Given the description of an element on the screen output the (x, y) to click on. 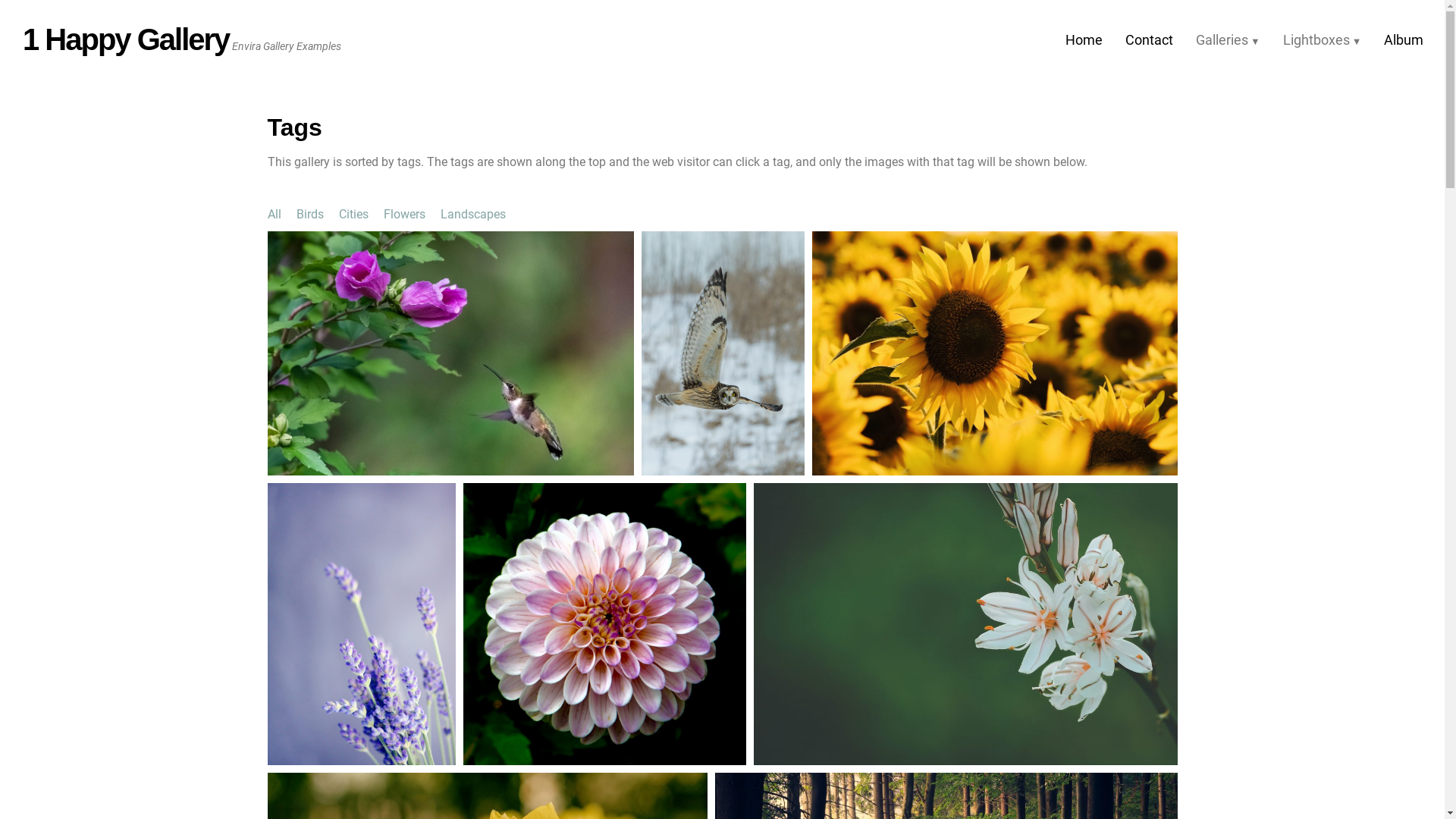
Lightboxes Element type: text (1322, 39)
Hummingbird Element type: hover (449, 353)
Flowers Element type: text (404, 214)
Sunflowers Element type: hover (993, 353)
Lavender Element type: hover (360, 624)
1 Happy Gallery Element type: text (125, 39)
Lilies Element type: hover (965, 624)
Album Element type: text (1403, 39)
Cities Element type: text (352, 214)
Purple and White Flower Element type: hover (603, 624)
Galleries Element type: text (1227, 39)
Contact Element type: text (1148, 39)
Home Element type: text (1083, 39)
All Element type: text (273, 214)
Landscapes Element type: text (472, 214)
Owl Element type: hover (722, 353)
Birds Element type: text (309, 214)
